Given the description of an element on the screen output the (x, y) to click on. 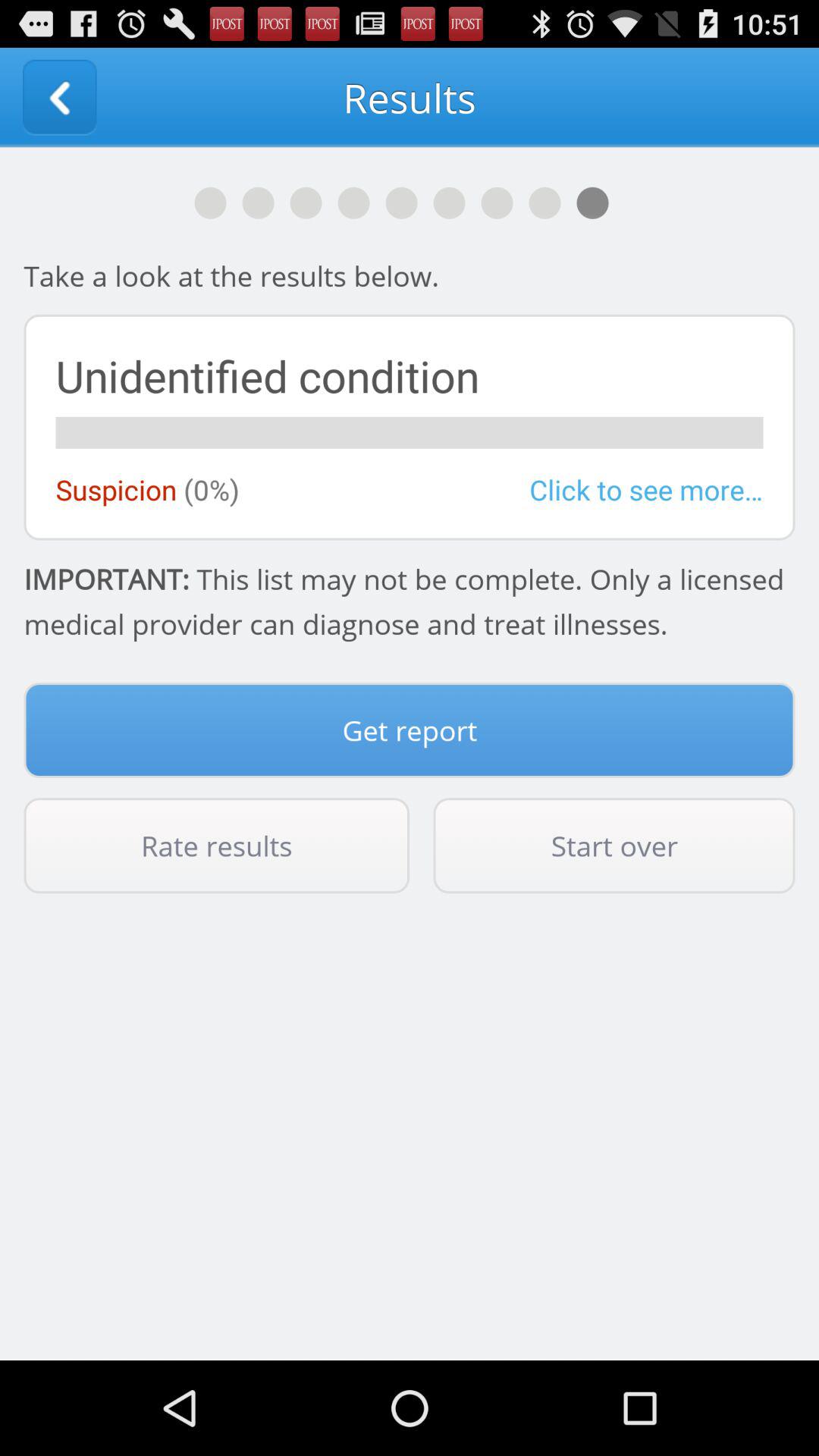
scroll to the get report (409, 730)
